Given the description of an element on the screen output the (x, y) to click on. 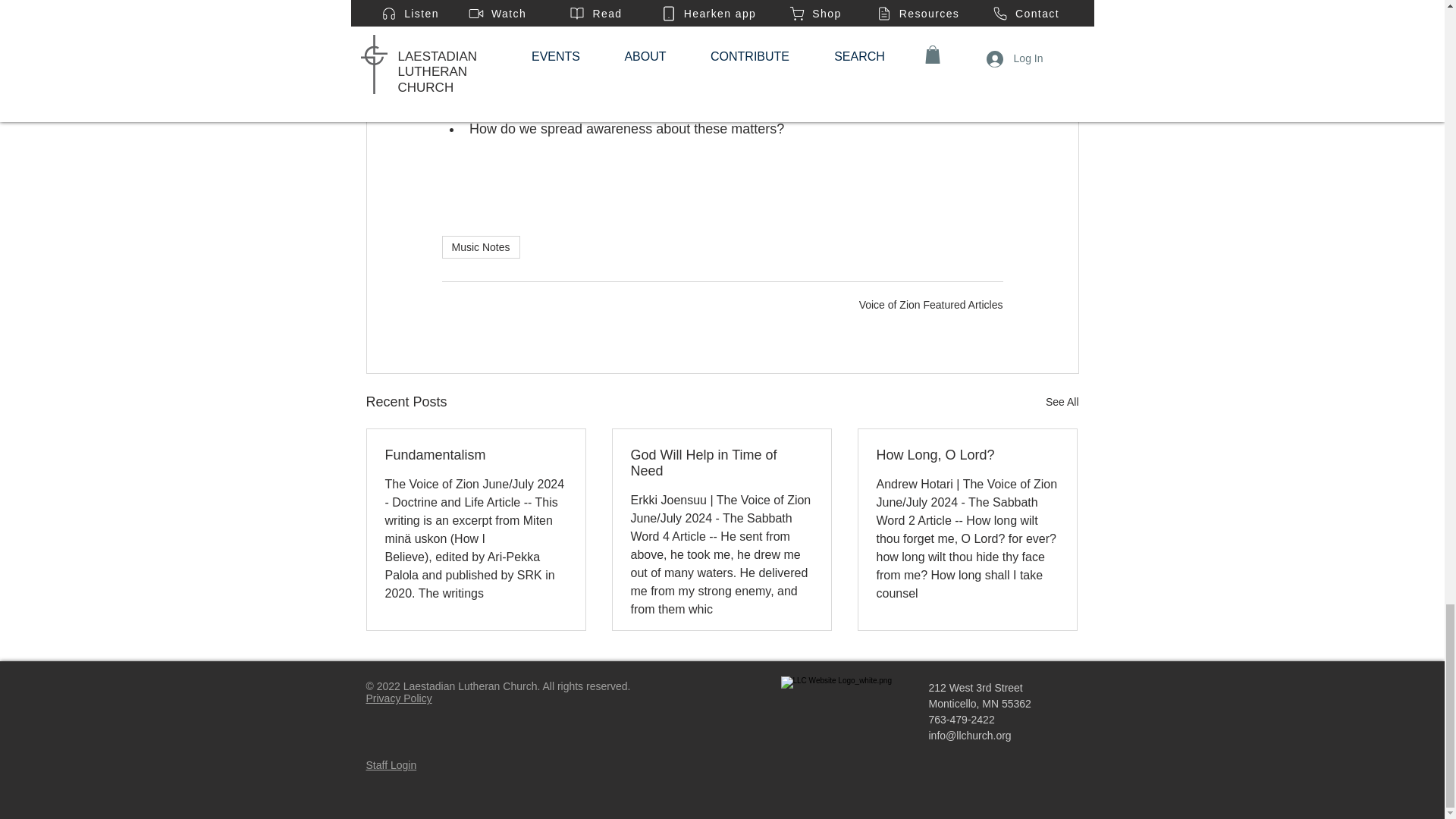
See All (1061, 402)
Privacy Policy (397, 698)
God Will Help in Time of Need (721, 463)
How Long, O Lord? (967, 455)
Fundamentalism (476, 455)
Music Notes (480, 246)
Staff Login (390, 765)
Voice of Zion Featured Articles (931, 304)
